Given the description of an element on the screen output the (x, y) to click on. 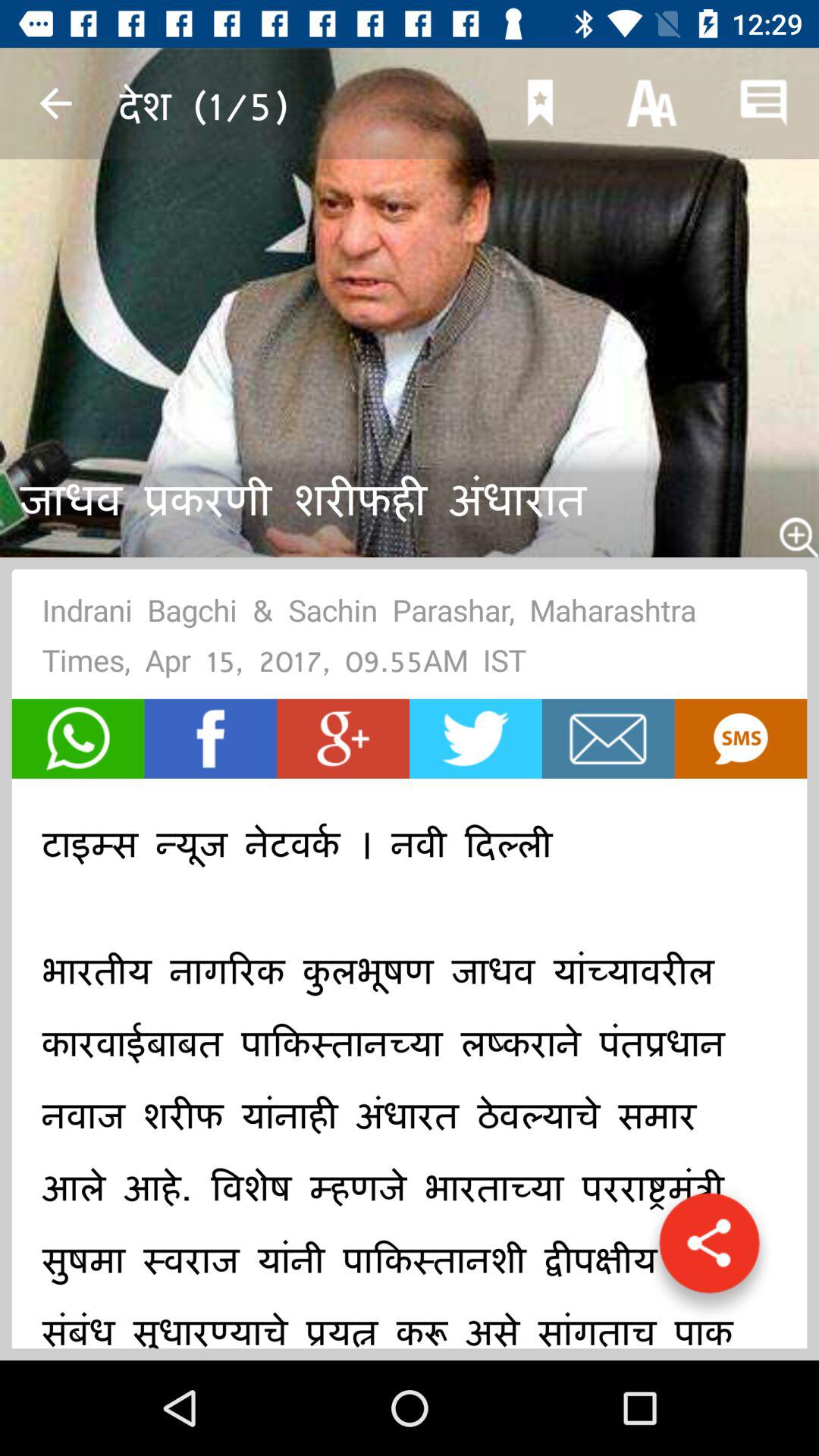
open item below indrani bagchi sachin (475, 738)
